Given the description of an element on the screen output the (x, y) to click on. 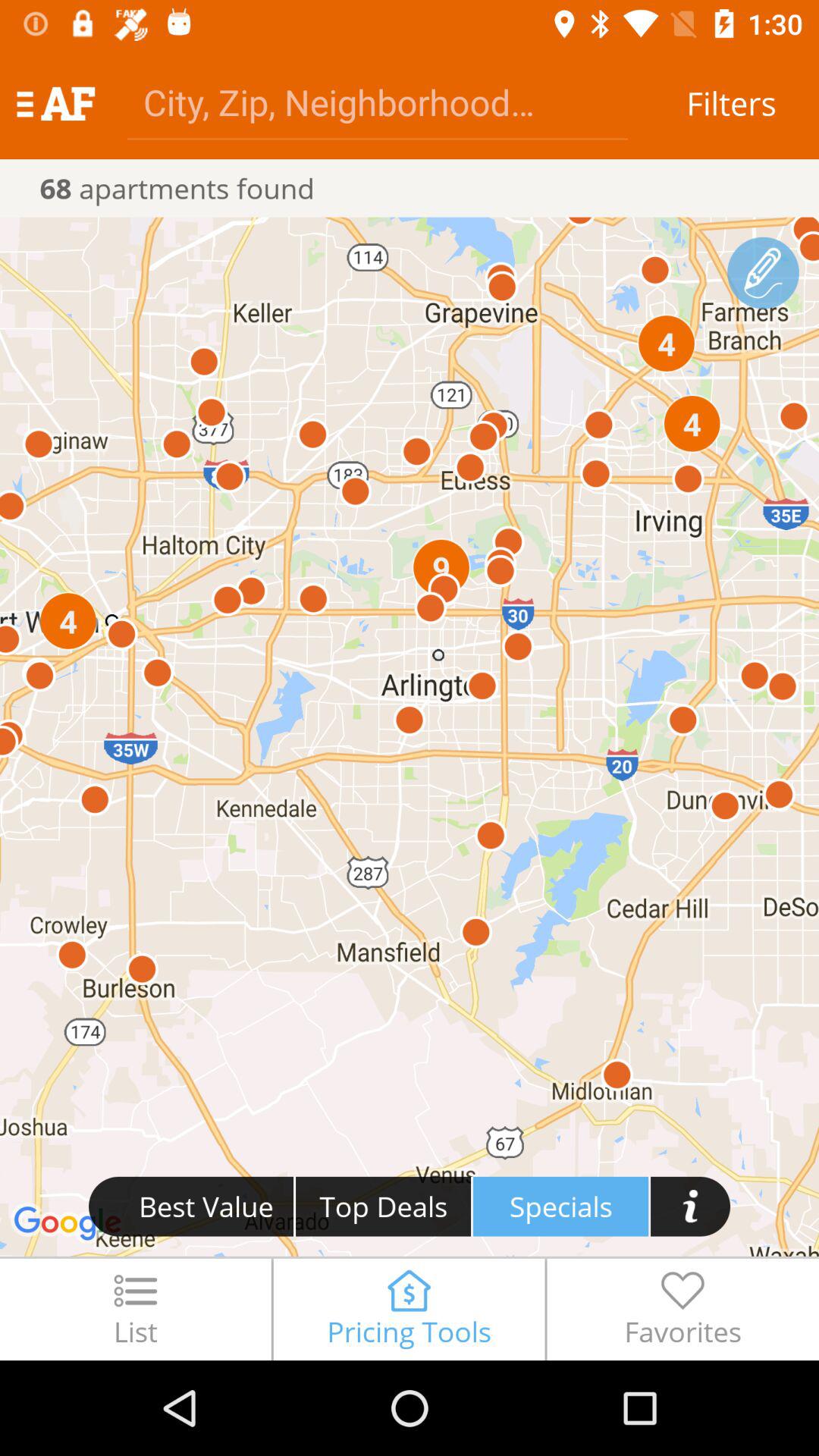
enter city zip neighborhood (377, 102)
